Given the description of an element on the screen output the (x, y) to click on. 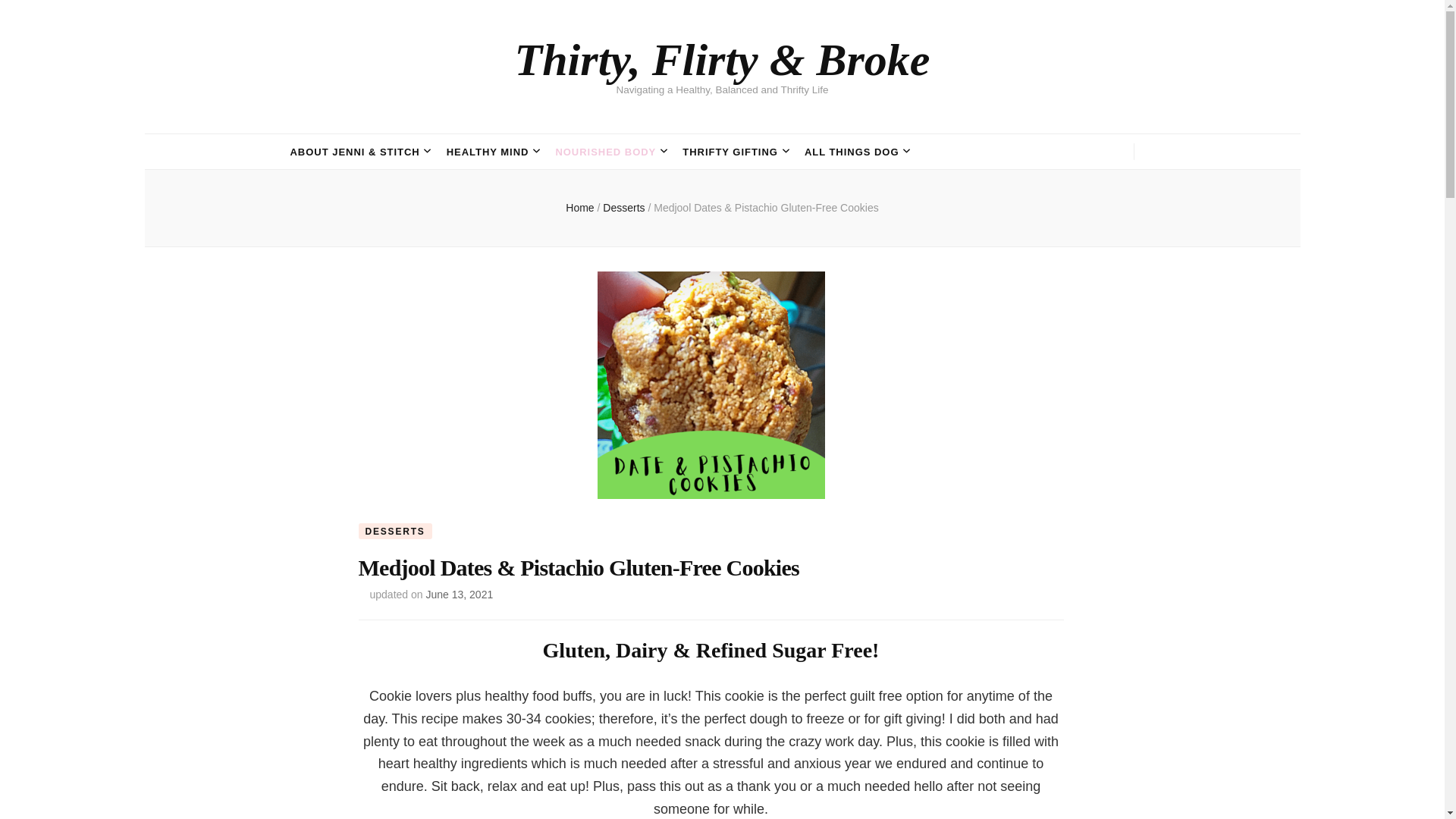
NOURISHED BODY (605, 151)
HEALTHY MIND (487, 151)
